Given the description of an element on the screen output the (x, y) to click on. 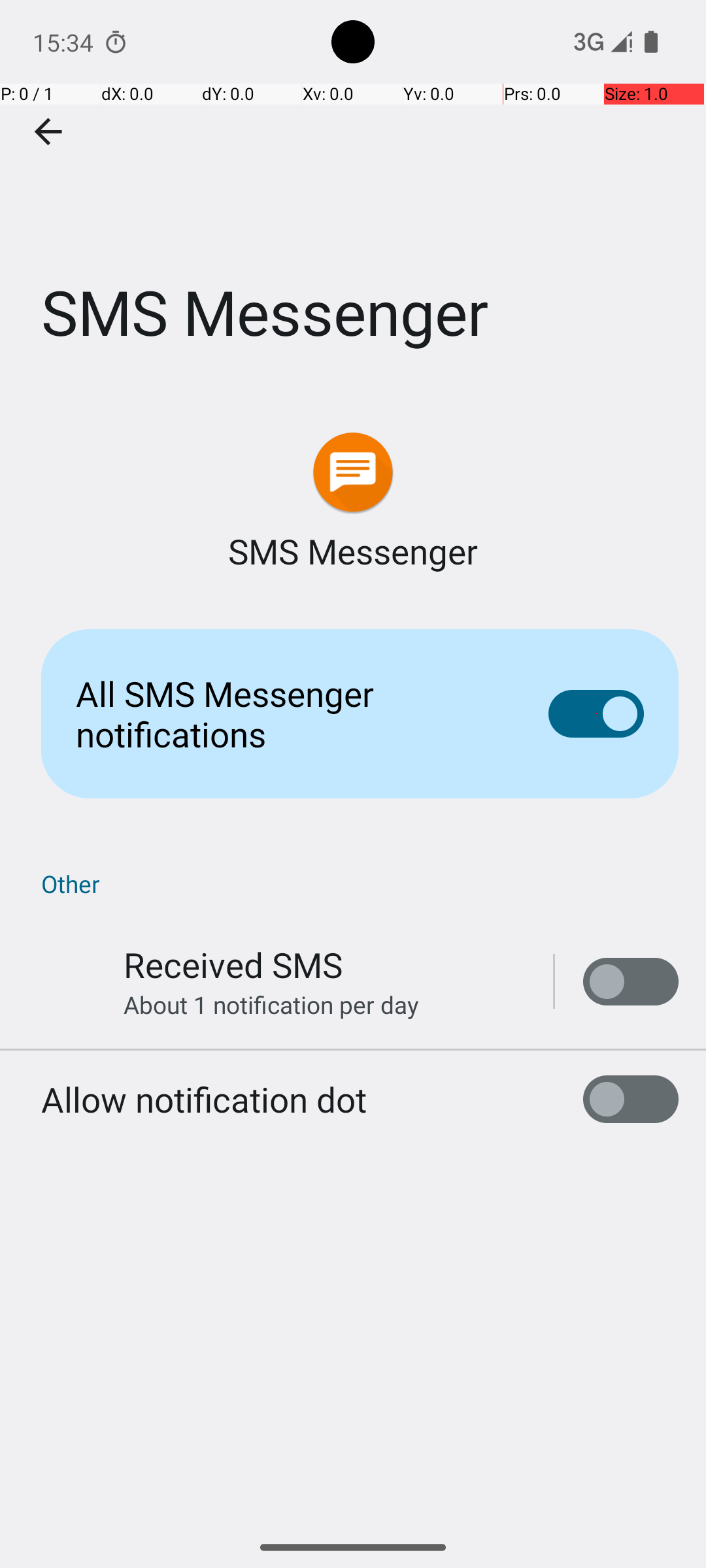
All SMS Messenger notifications Element type: android.widget.TextView (291, 713)
Received SMS Element type: android.widget.TextView (232, 964)
About 1 notification per day Element type: android.widget.TextView (271, 1004)
